Given the description of an element on the screen output the (x, y) to click on. 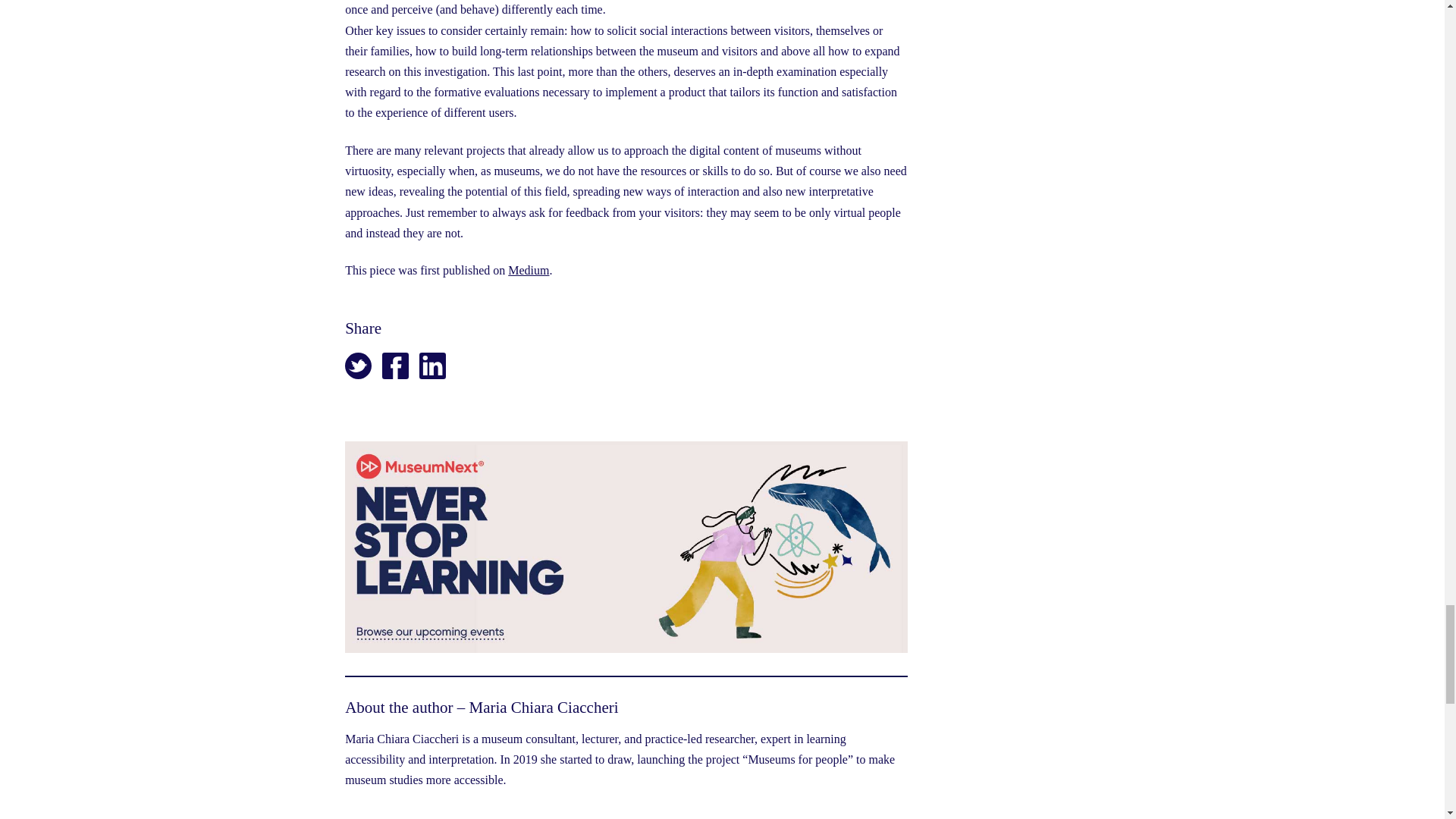
Medium (528, 269)
